Given the description of an element on the screen output the (x, y) to click on. 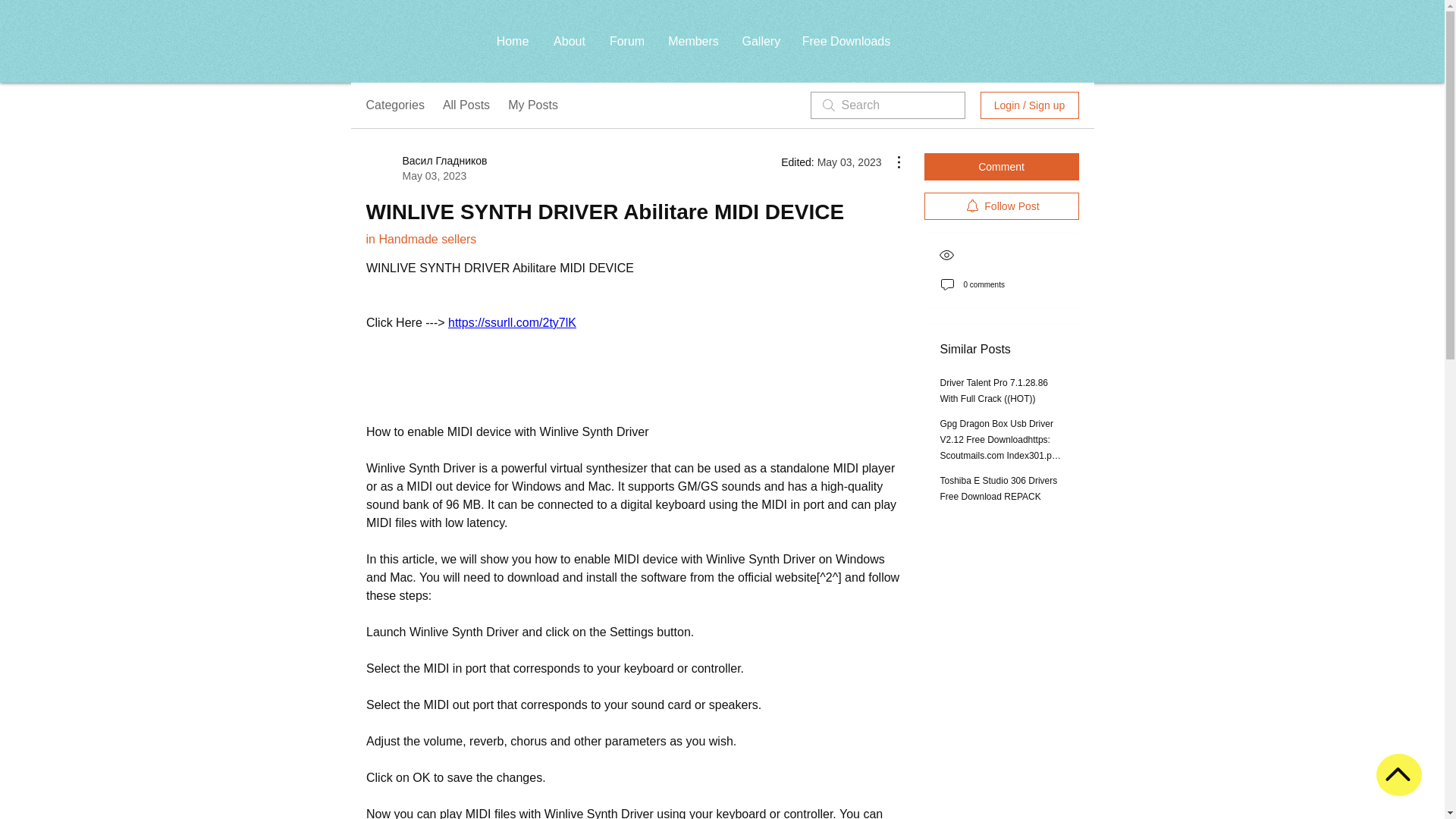
in Handmade sellers (420, 238)
Comment (1000, 166)
All Posts (465, 105)
Follow Post (1000, 206)
Toshiba E Studio 306 Drivers Free Download REPACK (999, 488)
Categories (394, 105)
Free Downloads (845, 41)
Members (693, 41)
My Posts (532, 105)
